Given the description of an element on the screen output the (x, y) to click on. 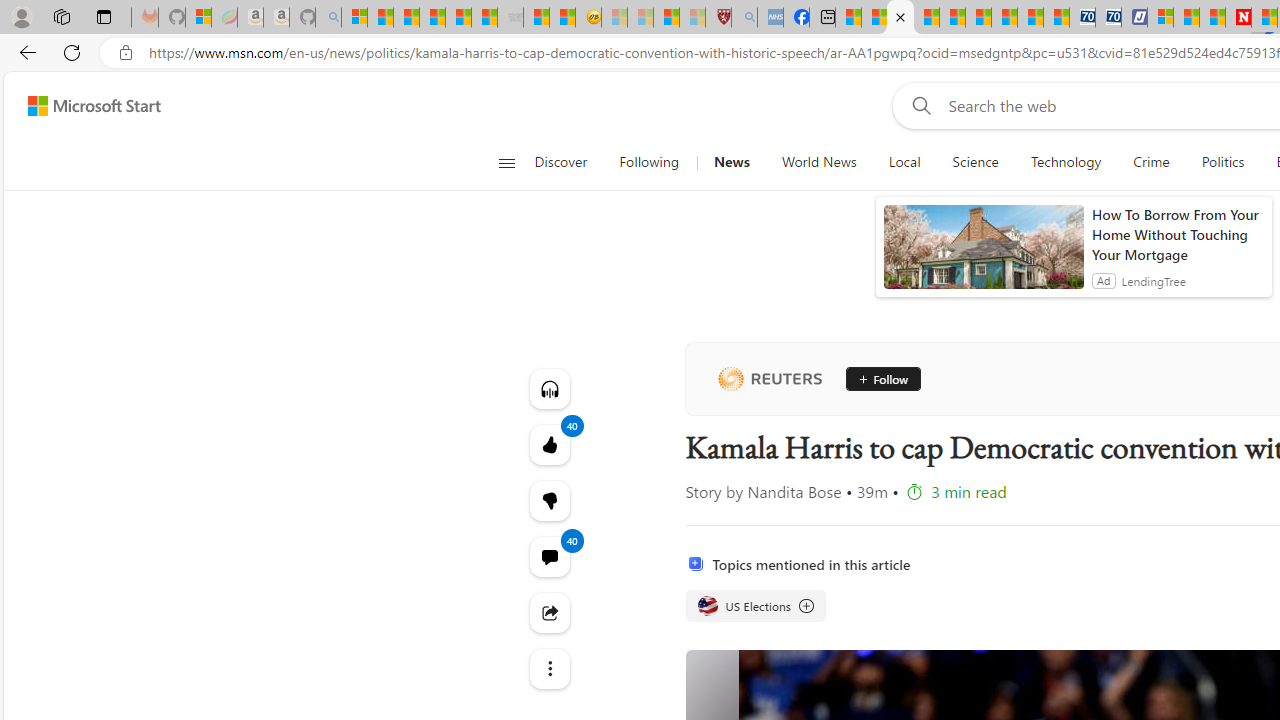
40 (548, 500)
Cheap Hotels - Save70.com (1108, 17)
40 Like (548, 444)
Combat Siege - Sleeping (510, 17)
Science - MSN (666, 17)
US Elections (754, 605)
US Elections (707, 606)
